Given the description of an element on the screen output the (x, y) to click on. 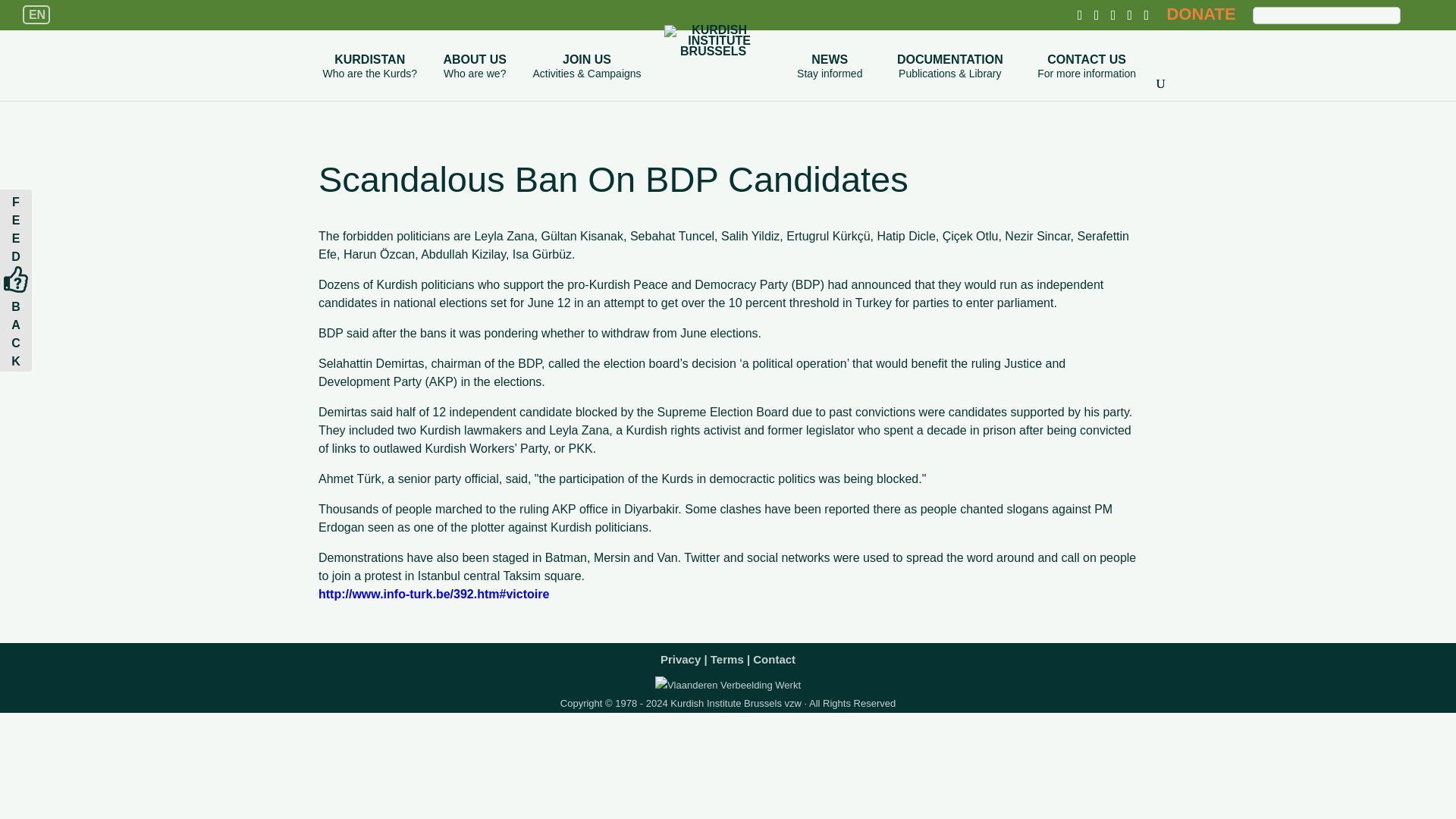
Contact (474, 77)
Terms (828, 77)
DONATE (773, 655)
Privacy (727, 655)
Search (1085, 77)
Search (1200, 13)
